Given the description of an element on the screen output the (x, y) to click on. 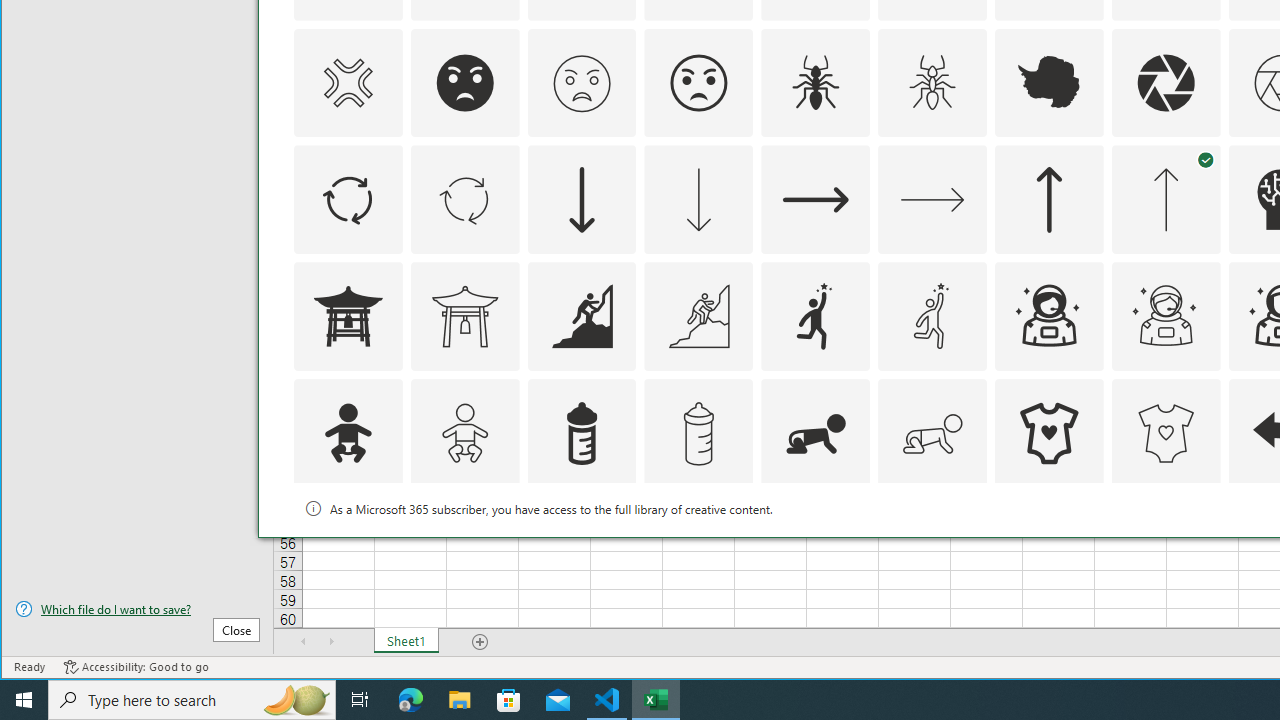
AutomationID: Icons_Baby (348, 434)
AutomationID: Icons_ArrowCircle_M (464, 200)
AutomationID: Icons_BabyOnesie (1048, 434)
File Explorer (460, 699)
AutomationID: Icons_AstronautFemale (1048, 316)
AutomationID: Icons_Badge3_M (815, 550)
Task View (359, 699)
